Given the description of an element on the screen output the (x, y) to click on. 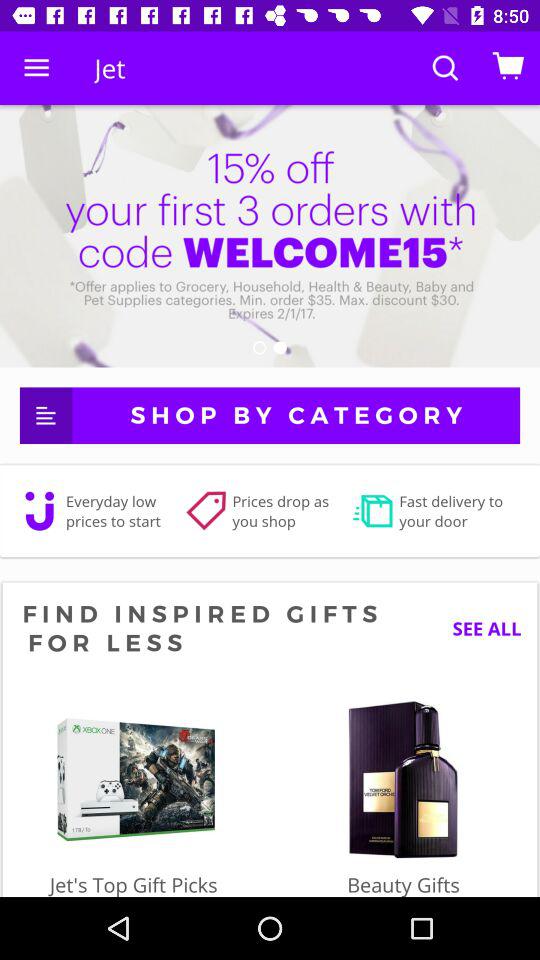
launch the see all icon (479, 628)
